Given the description of an element on the screen output the (x, y) to click on. 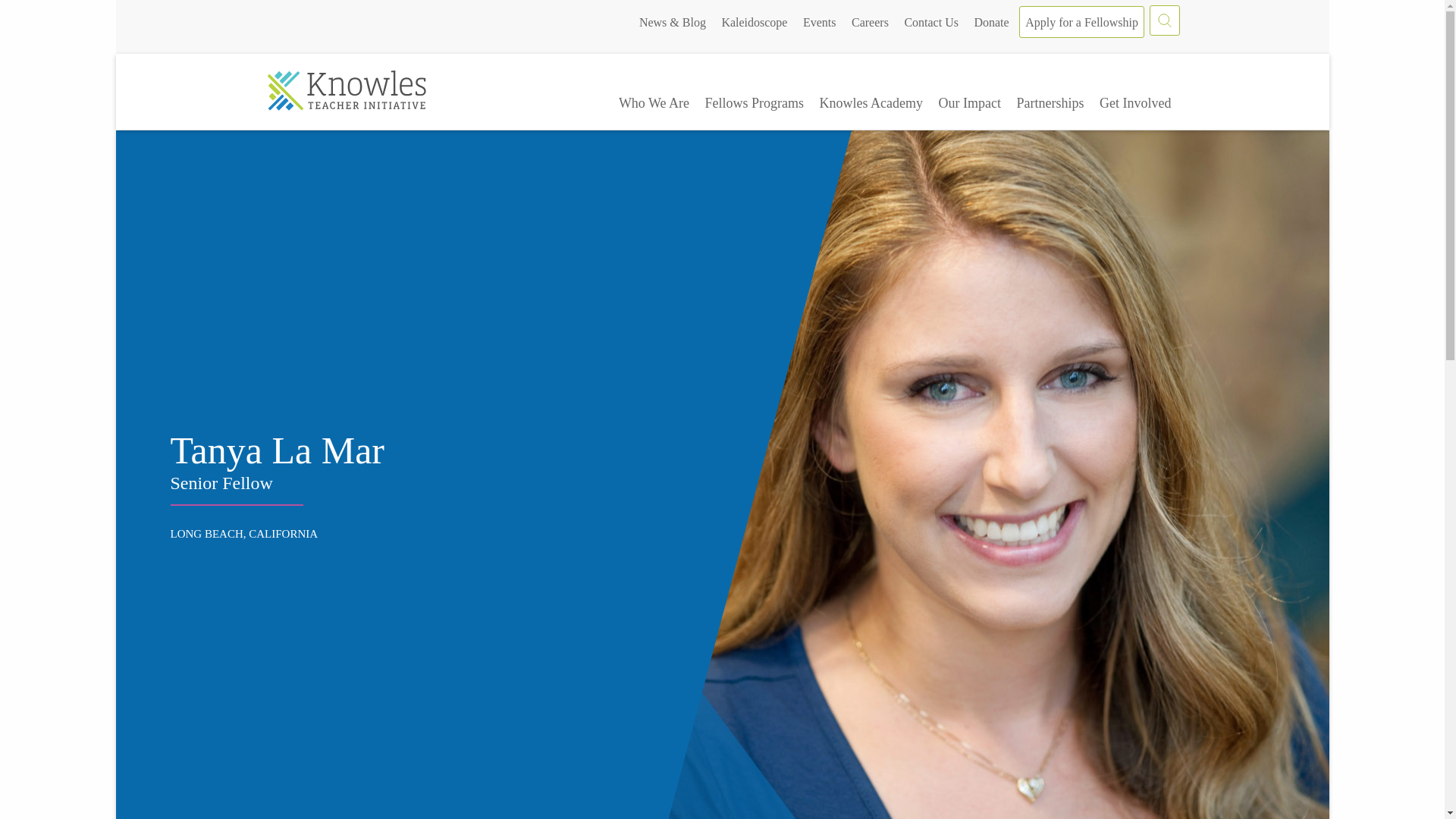
Events (819, 21)
Kaleidoscope (753, 21)
Careers (869, 21)
Donate (991, 21)
Contact Us (931, 21)
